Given the description of an element on the screen output the (x, y) to click on. 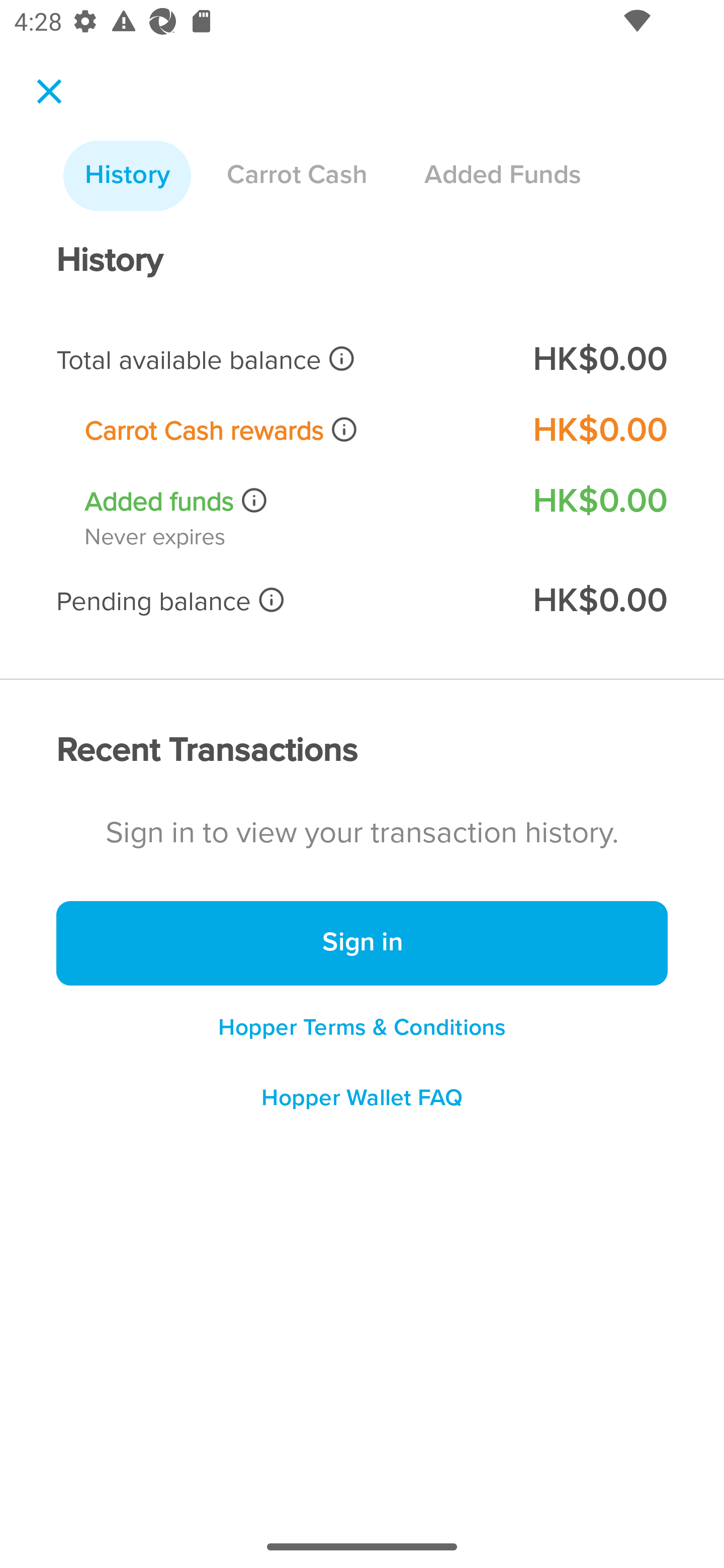
Navigate up (49, 91)
‍2 promotions (362, 95)
‍History (127, 176)
‍Carrot Cash (296, 176)
‍Added Funds (502, 176)
‍HK$0.00 (599, 359)
‍Total available balance ​ (280, 359)
‍HK$0.00 (599, 430)
‍Carrot Cash rewards ​ (294, 430)
‍HK$0.00 (599, 500)
‍Added funds ​ (294, 501)
‍HK$0.00 (599, 601)
‍Pending balance ​ (280, 601)
‍Sign in (361, 943)
‍Hopper Terms & Conditions (361, 1027)
‍Hopper Wallet FAQ (361, 1104)
